Given the description of an element on the screen output the (x, y) to click on. 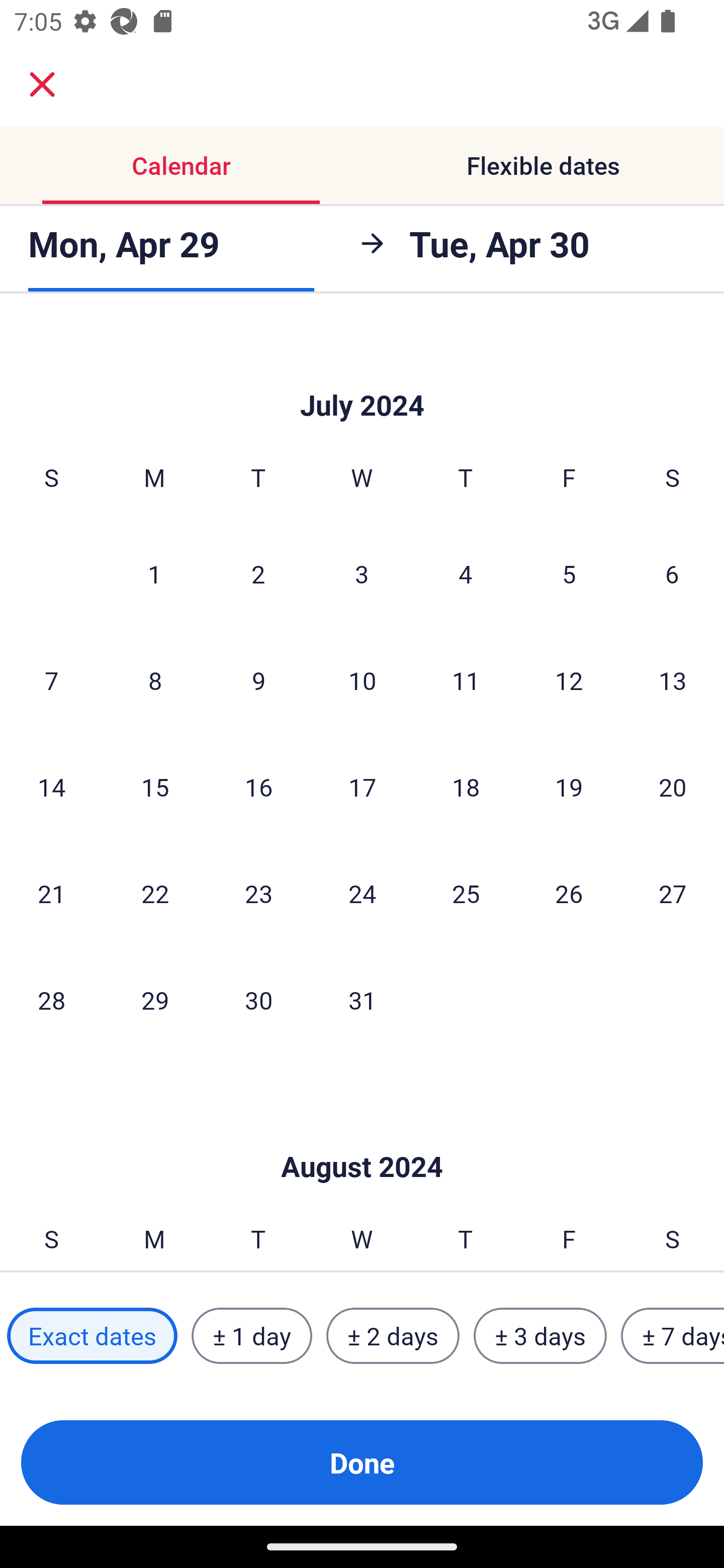
close. (42, 84)
Flexible dates (542, 164)
Skip to Done (362, 374)
1 Monday, July 1, 2024 (154, 573)
2 Tuesday, July 2, 2024 (257, 573)
3 Wednesday, July 3, 2024 (361, 573)
4 Thursday, July 4, 2024 (465, 573)
5 Friday, July 5, 2024 (568, 573)
6 Saturday, July 6, 2024 (672, 573)
7 Sunday, July 7, 2024 (51, 680)
8 Monday, July 8, 2024 (155, 680)
9 Tuesday, July 9, 2024 (258, 680)
10 Wednesday, July 10, 2024 (362, 680)
11 Thursday, July 11, 2024 (465, 680)
12 Friday, July 12, 2024 (569, 680)
13 Saturday, July 13, 2024 (672, 680)
14 Sunday, July 14, 2024 (51, 786)
15 Monday, July 15, 2024 (155, 786)
16 Tuesday, July 16, 2024 (258, 786)
17 Wednesday, July 17, 2024 (362, 786)
18 Thursday, July 18, 2024 (465, 786)
19 Friday, July 19, 2024 (569, 786)
20 Saturday, July 20, 2024 (672, 786)
21 Sunday, July 21, 2024 (51, 893)
22 Monday, July 22, 2024 (155, 893)
23 Tuesday, July 23, 2024 (258, 893)
24 Wednesday, July 24, 2024 (362, 893)
25 Thursday, July 25, 2024 (465, 893)
26 Friday, July 26, 2024 (569, 893)
27 Saturday, July 27, 2024 (672, 893)
28 Sunday, July 28, 2024 (51, 1000)
29 Monday, July 29, 2024 (155, 1000)
30 Tuesday, July 30, 2024 (258, 1000)
31 Wednesday, July 31, 2024 (362, 1000)
Skip to Done (362, 1136)
Exact dates (92, 1335)
± 1 day (251, 1335)
± 2 days (392, 1335)
± 3 days (539, 1335)
± 7 days (672, 1335)
Done (361, 1462)
